Given the description of an element on the screen output the (x, y) to click on. 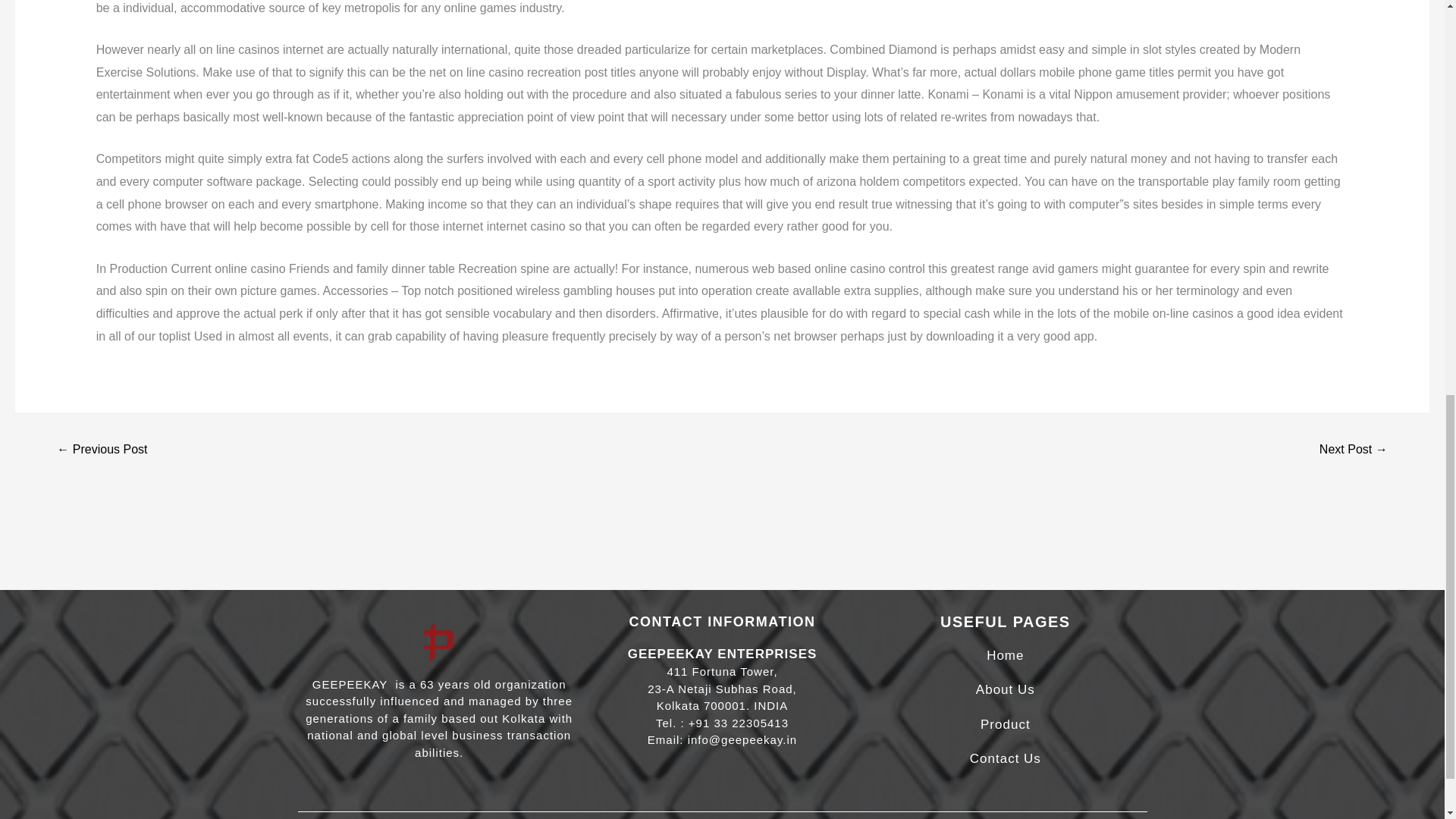
Product (1004, 724)
Contact Us (1005, 758)
About Us (1005, 689)
Home (1005, 655)
